Given the description of an element on the screen output the (x, y) to click on. 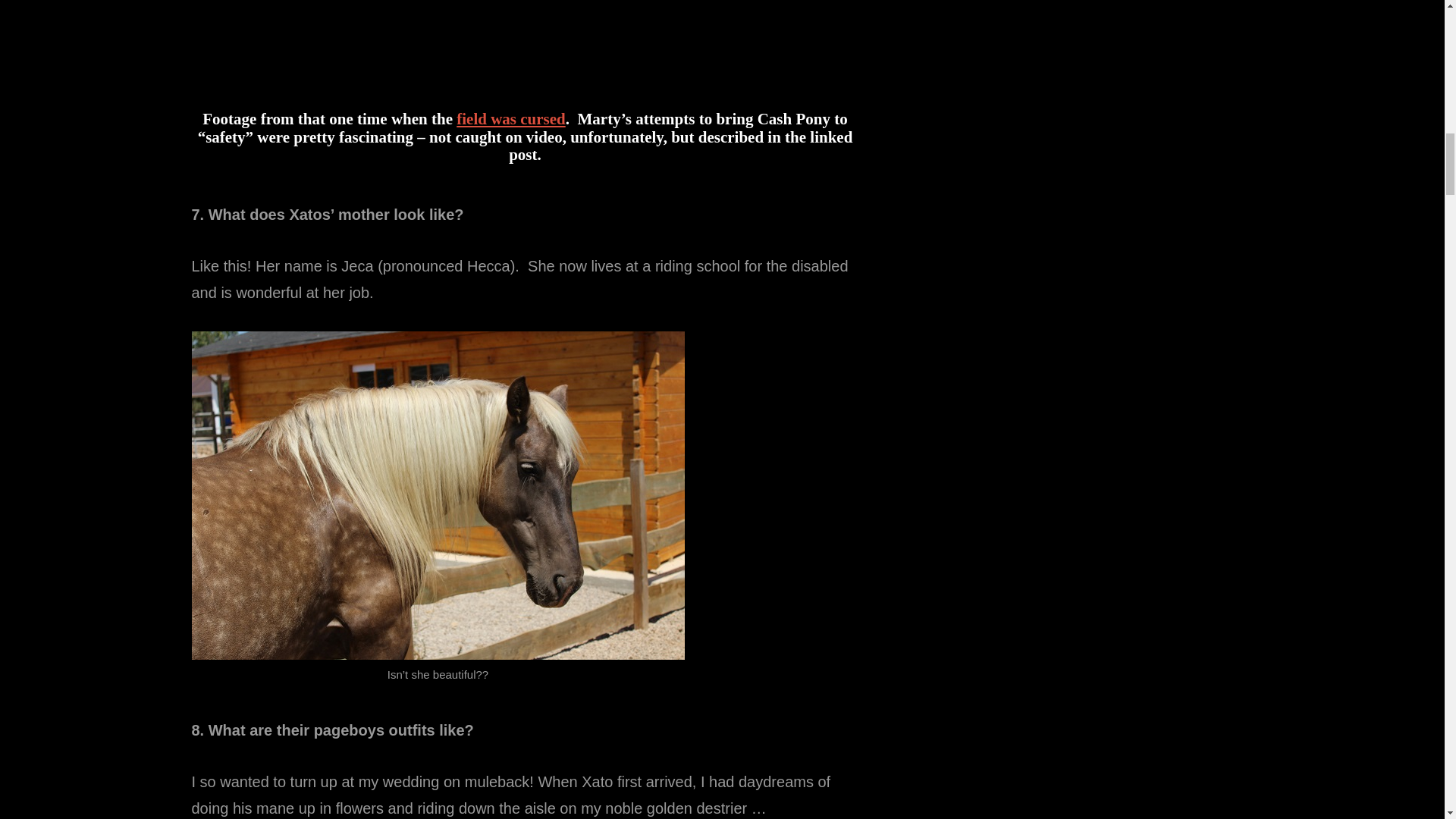
field was cursed (511, 118)
